Given the description of an element on the screen output the (x, y) to click on. 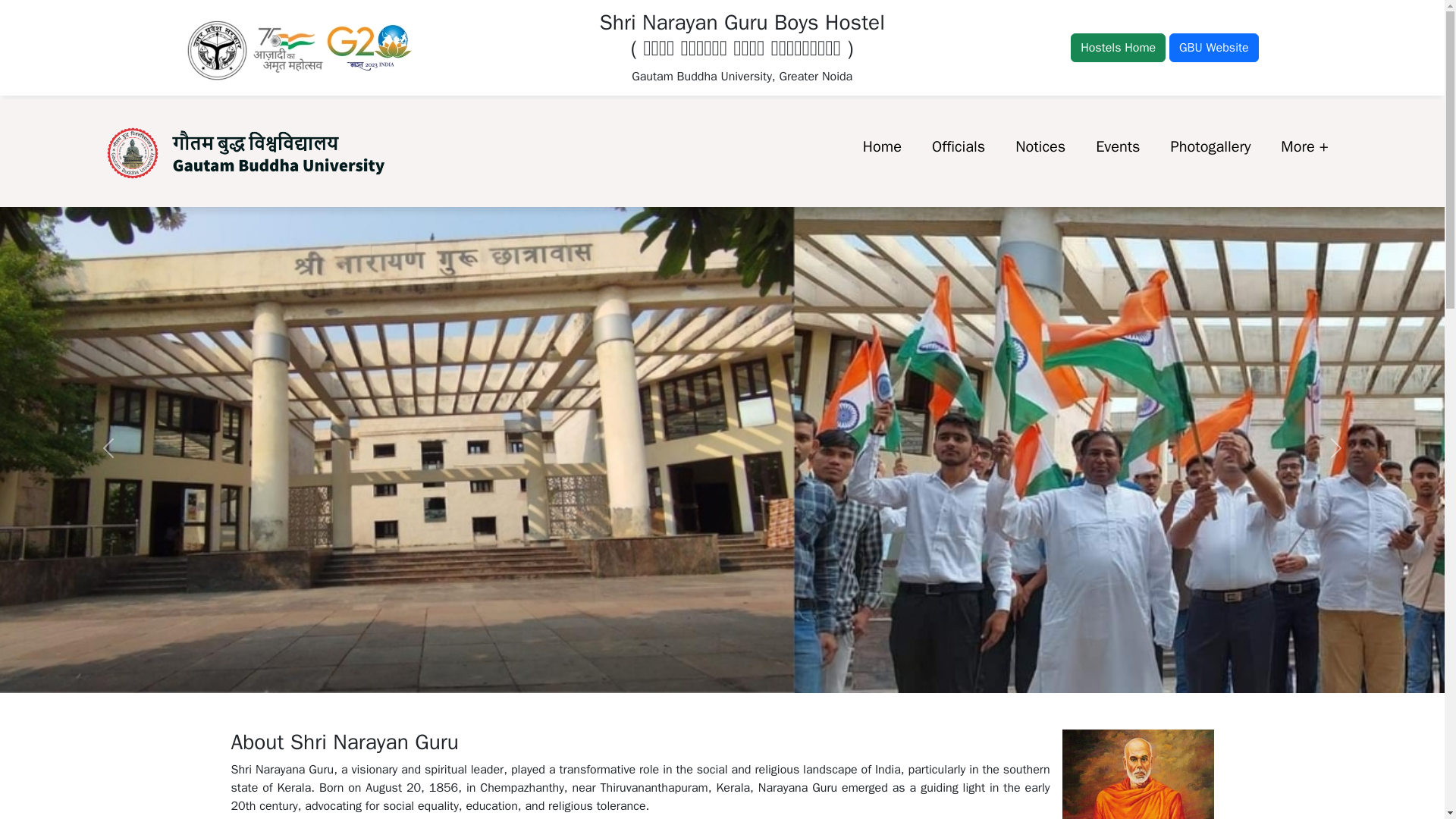
Home (882, 146)
Officials (958, 146)
GBU Website (1214, 47)
Hostels Home (1118, 47)
Notices (1040, 146)
Photogallery (1209, 146)
Events (1117, 146)
